Given the description of an element on the screen output the (x, y) to click on. 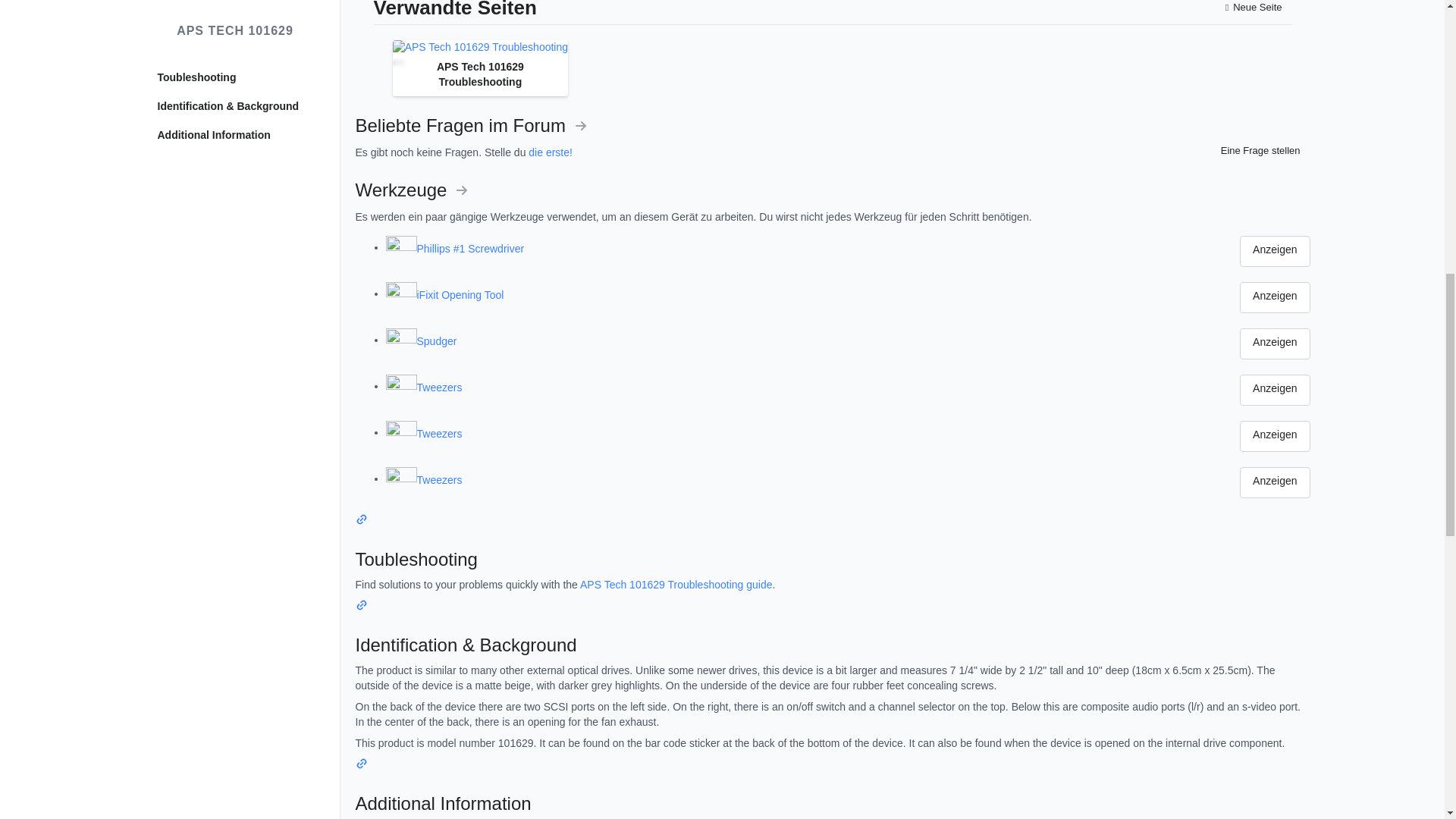
iFixit Opening Tool (828, 295)
APS Tech 101629 Troubleshooting (480, 47)
die erste! (550, 152)
Link zu diesem Abschnitt (360, 521)
Anzeigen (1274, 343)
Tweezers (828, 434)
Link zu diesem Abschnitt (360, 766)
Anzeigen (1274, 250)
Neue Seite (1253, 9)
Anzeigen (1274, 389)
Eine Frage stellen (1258, 150)
Anzeigen (1274, 296)
Link zu diesem Abschnitt (360, 607)
Spudger (828, 341)
Tweezers (828, 387)
